Given the description of an element on the screen output the (x, y) to click on. 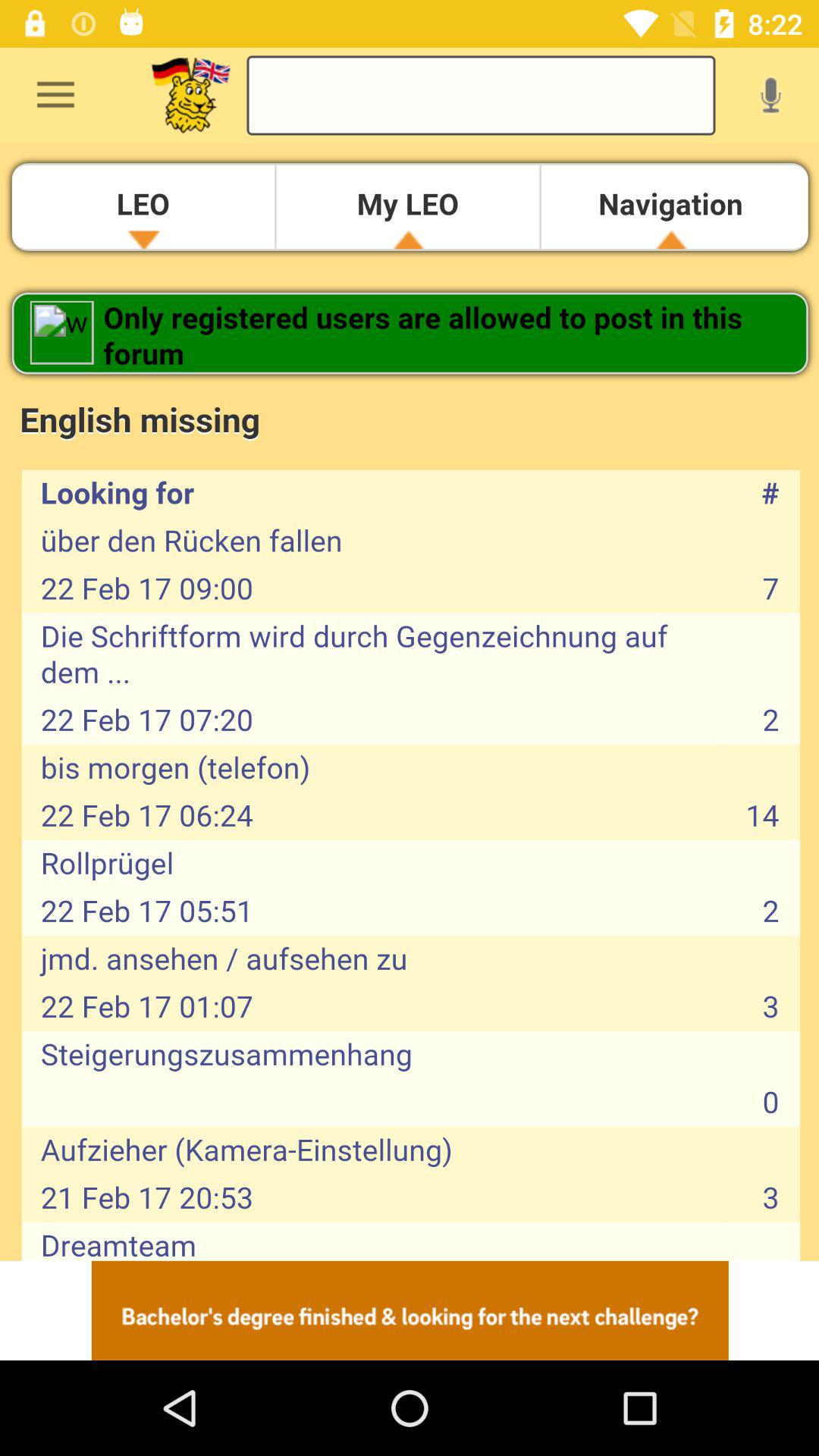
sponsored content (409, 1310)
